Given the description of an element on the screen output the (x, y) to click on. 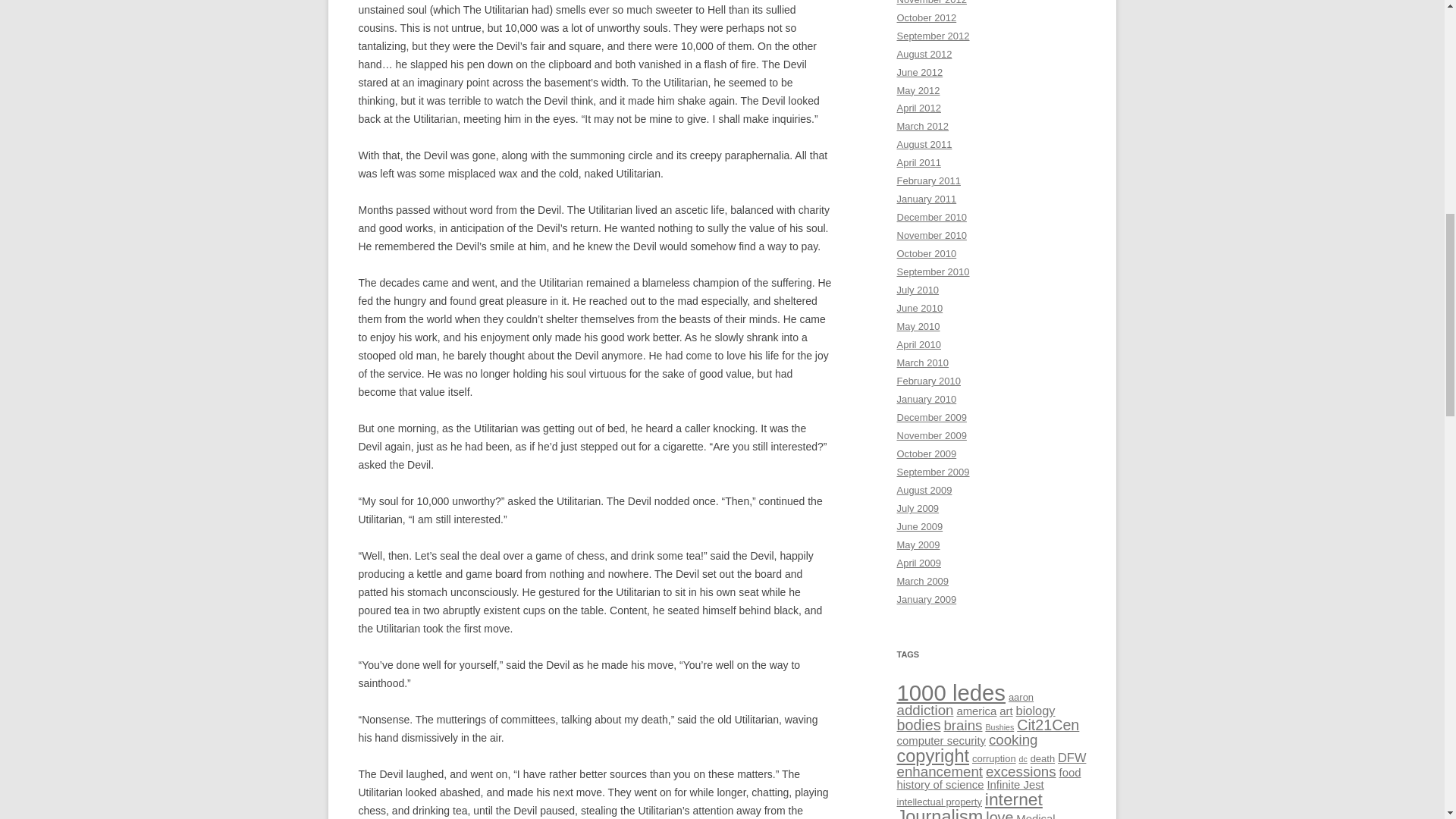
November 2012 (931, 2)
August 2012 (924, 53)
September 2012 (932, 35)
October 2012 (926, 17)
